Given the description of an element on the screen output the (x, y) to click on. 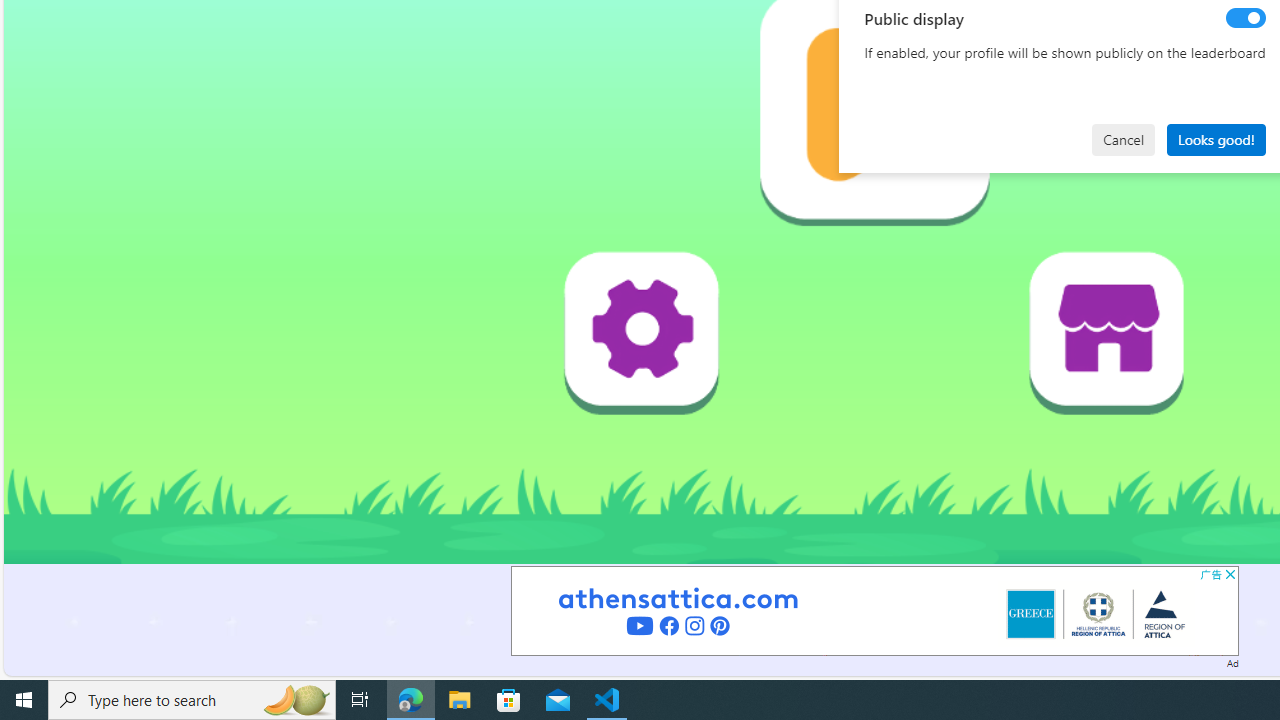
Advertisement (874, 610)
Cancel (1123, 139)
Advertisement (874, 610)
AutomationID: cbb (1229, 574)
Looks good! (1216, 139)
